Given the description of an element on the screen output the (x, y) to click on. 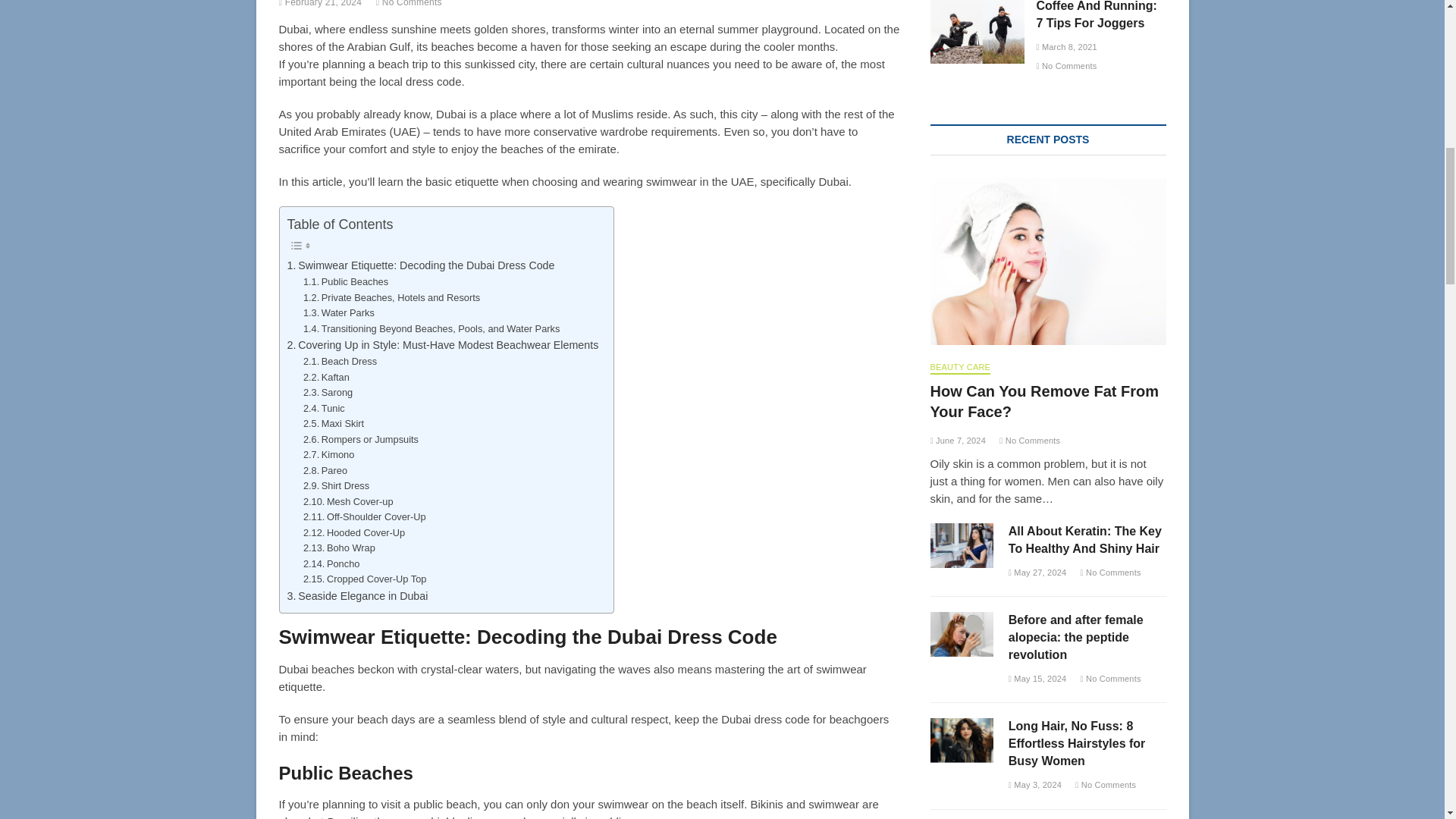
Kimono (327, 455)
Private Beaches, Hotels and Resorts (391, 298)
Rompers or Jumpsuits (360, 439)
Sarong (327, 392)
Water Parks (338, 313)
Transitioning Beyond Beaches, Pools, and Water Parks (430, 329)
Kaftan (325, 377)
Swimwear Etiquette: Decoding the Dubai Dress Code (420, 265)
Maxi Skirt (333, 424)
February 21, 2024 (320, 3)
Tunic (323, 408)
Covering Up in Style: Must-Have Modest Beachwear Elements (442, 344)
Public Beaches (345, 282)
Beach Dress (339, 361)
